Given the description of an element on the screen output the (x, y) to click on. 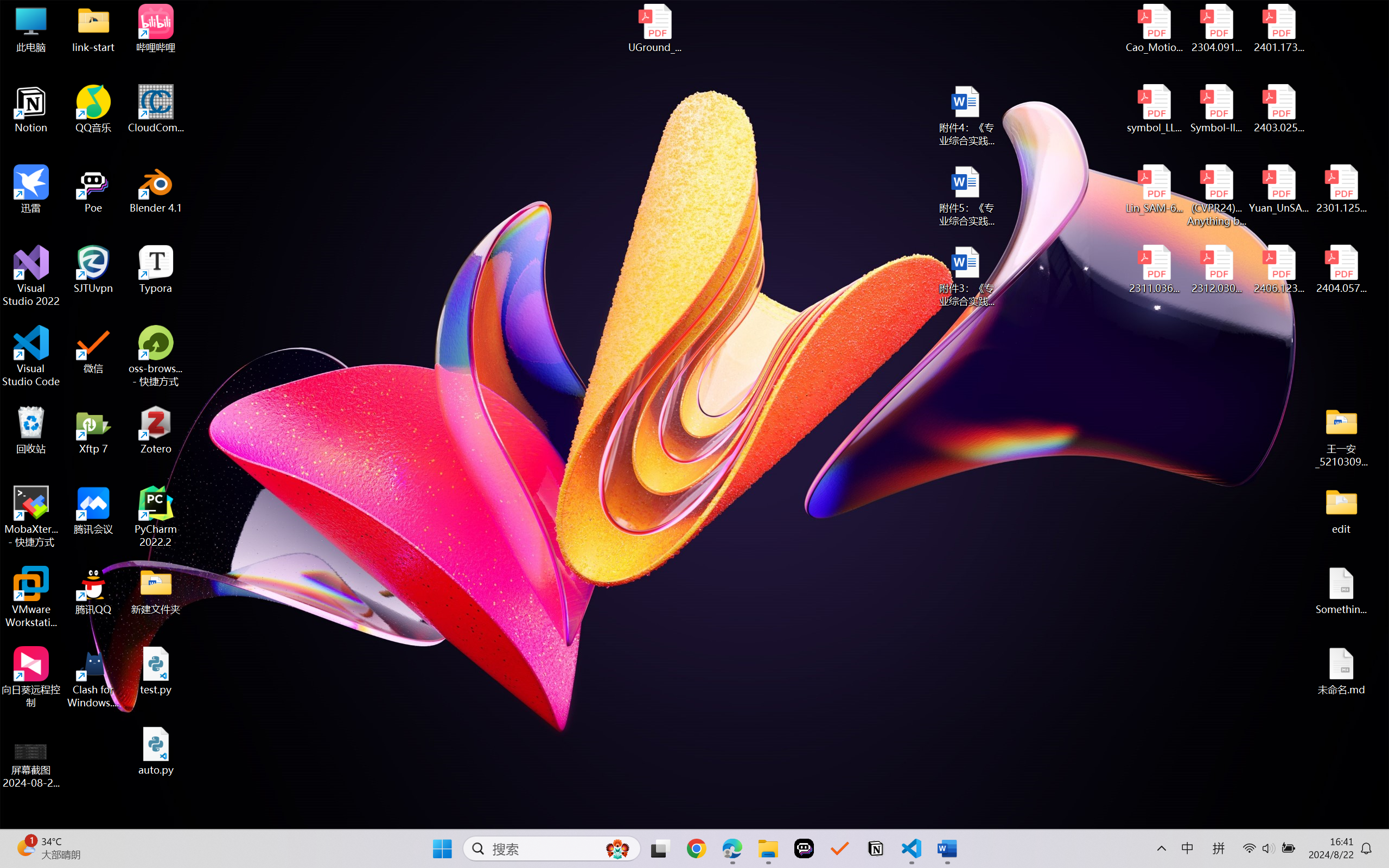
Google Chrome (696, 848)
Notion (31, 109)
auto.py (156, 751)
edit (1340, 510)
UGround_paper.pdf (654, 28)
test.py (156, 670)
(CVPR24)Matching Anything by Segmenting Anything.pdf (1216, 195)
PyCharm 2022.2 (156, 516)
